Given the description of an element on the screen output the (x, y) to click on. 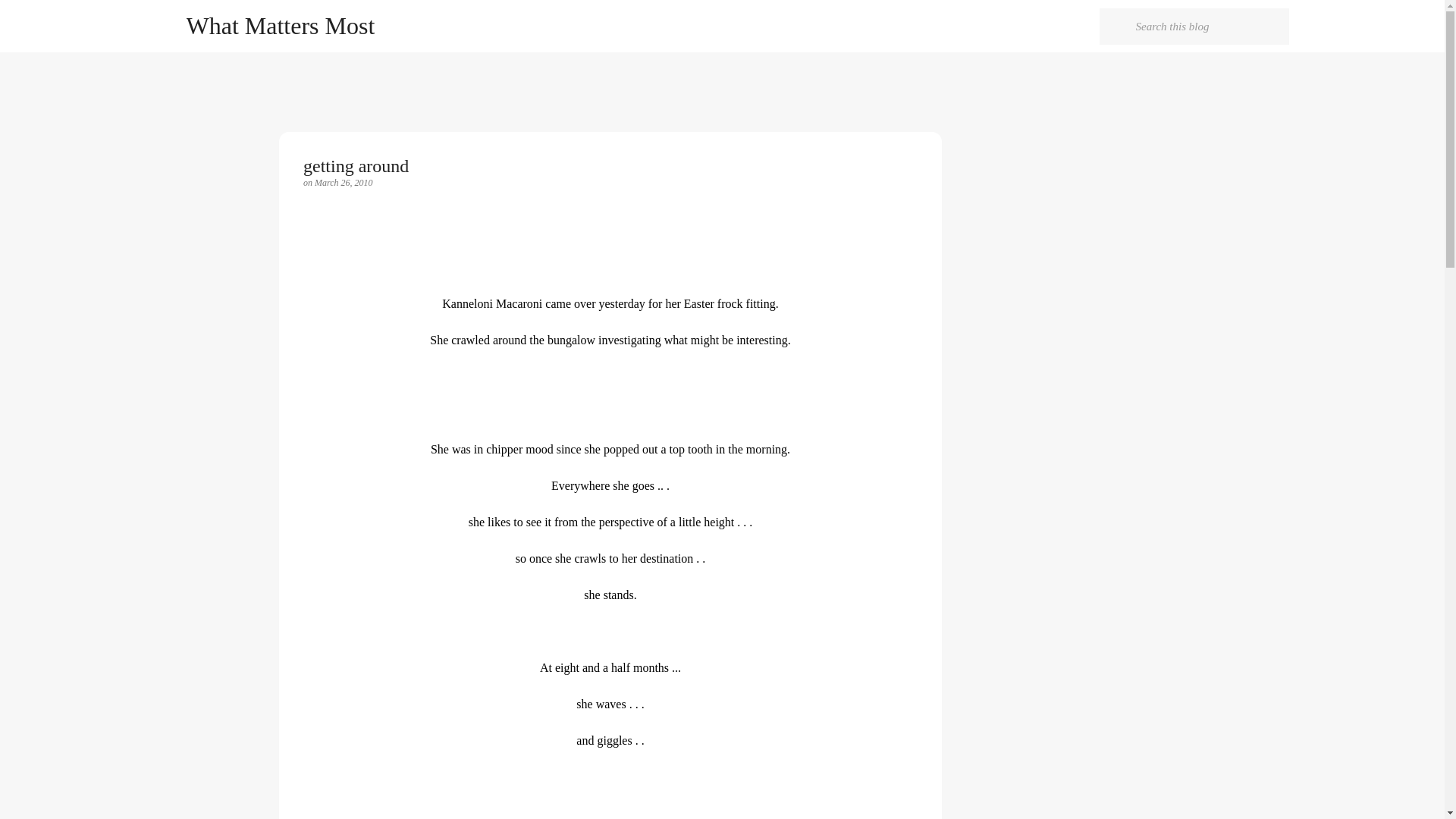
What Matters Most (280, 25)
March 26, 2010 (343, 182)
permanent link (343, 182)
